Given the description of an element on the screen output the (x, y) to click on. 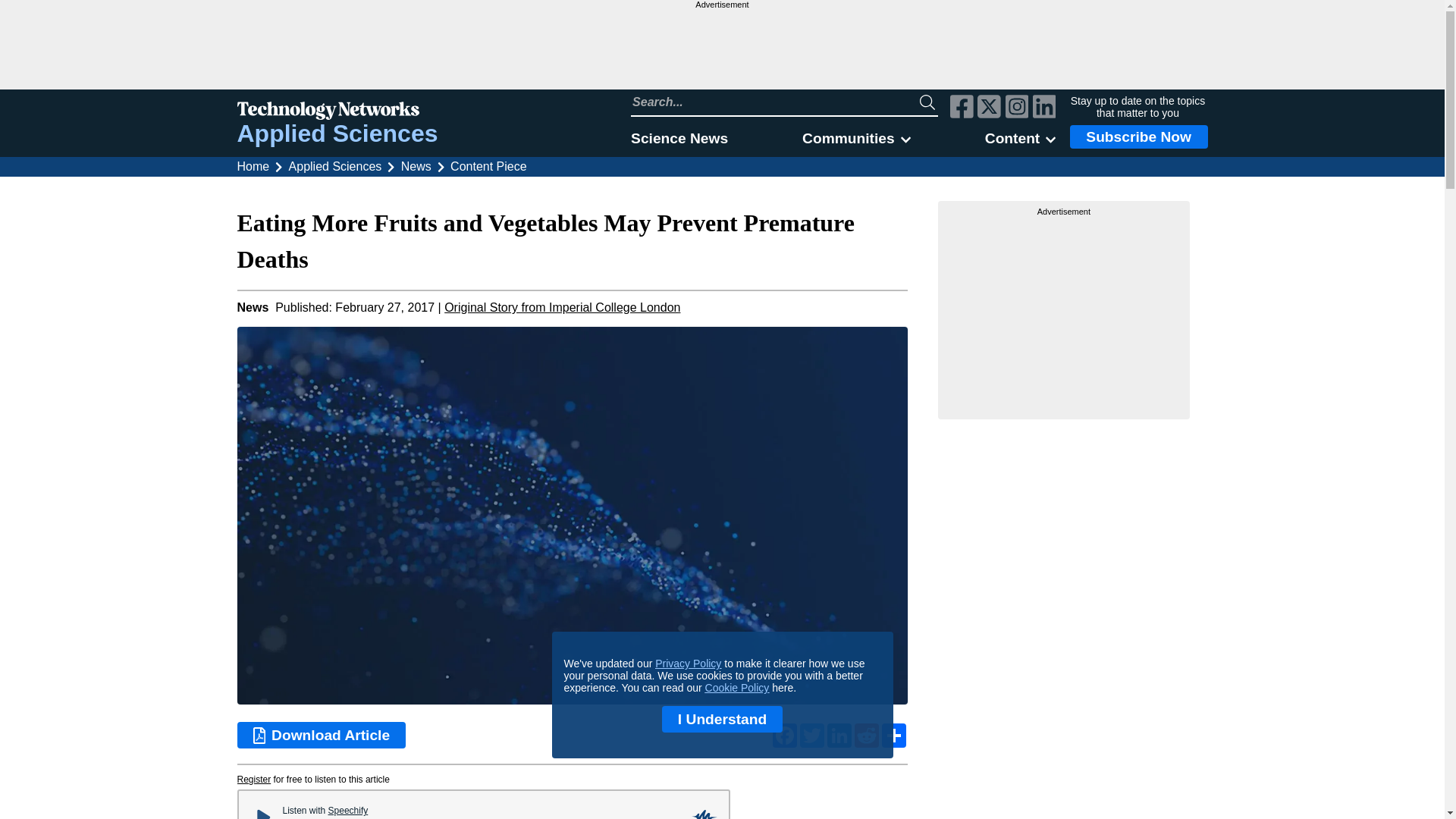
Cookie Policy (737, 687)
3rd party ad content (1063, 312)
Link to Technology Networks' linkedin page (1044, 108)
Link to Technology Networks' facebook page (962, 108)
Link to Technology Networks' instagram page (1017, 108)
3rd party ad content (721, 49)
Search Technology Networks website input field (775, 102)
Click here to visit the original source for this content. (561, 307)
Link to Technology Networks' twitter page (988, 108)
Privacy Policy (687, 663)
Technology Networks logo (336, 112)
I Understand (722, 718)
